Given the description of an element on the screen output the (x, y) to click on. 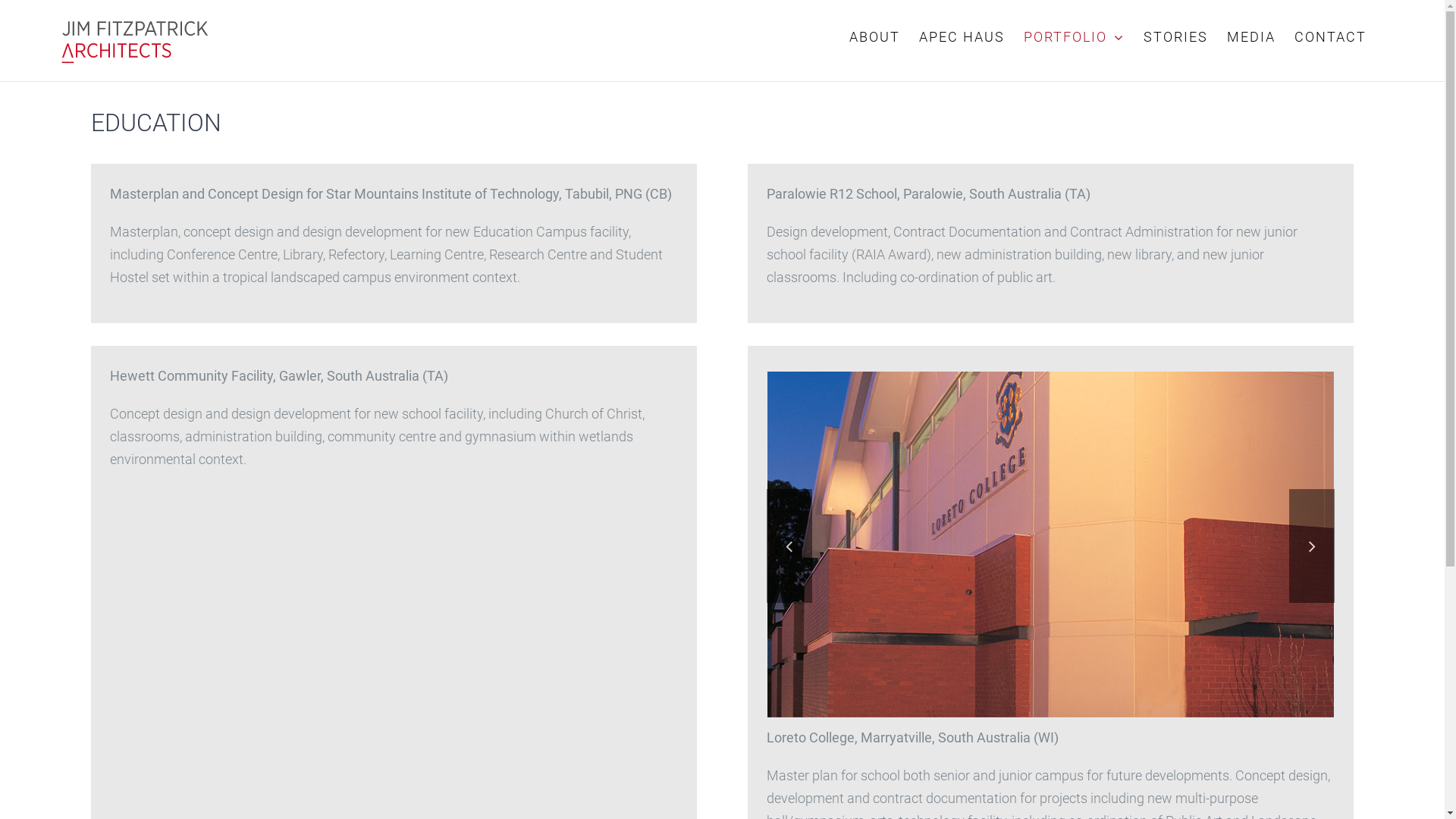
STORIES Element type: text (1175, 36)
ABOUT Element type: text (874, 36)
PORTFOLIO Element type: text (1073, 36)
MEDIA Element type: text (1250, 36)
CONTACT Element type: text (1330, 36)
APEC HAUS Element type: text (961, 36)
